Given the description of an element on the screen output the (x, y) to click on. 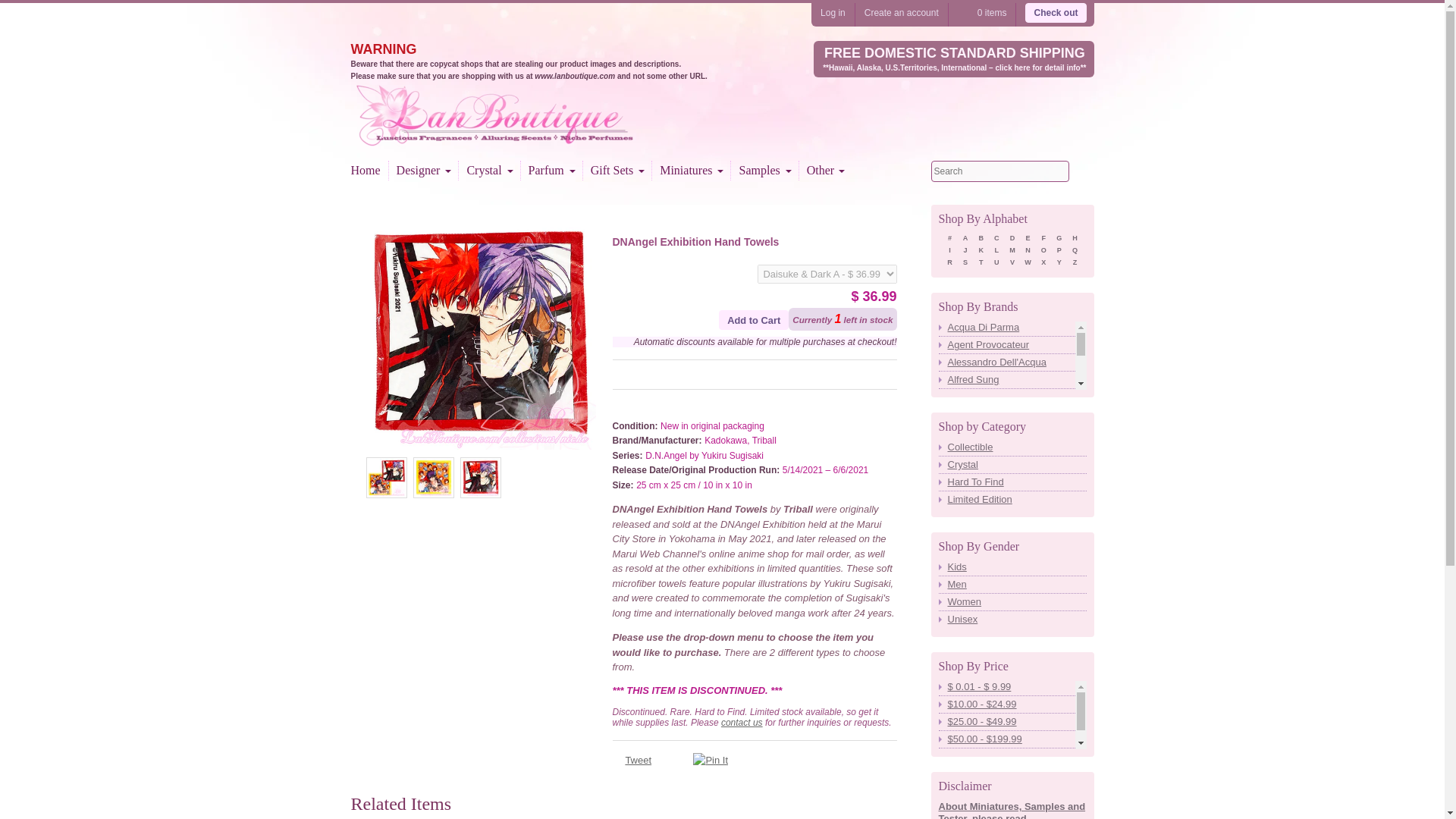
Home (520, 136)
Annick Goutal (1011, 484)
DNAngel Exhibition Hand Towels (385, 477)
Alessandro Dell'Acqua (1011, 362)
Acqua Di Parma (1011, 327)
Add to Cart (754, 320)
DNAngel Exhibition Hand Towels (432, 477)
Anna Sui (1011, 449)
Angel Schlesser (1011, 431)
Agent Provocateur (1011, 345)
